Given the description of an element on the screen output the (x, y) to click on. 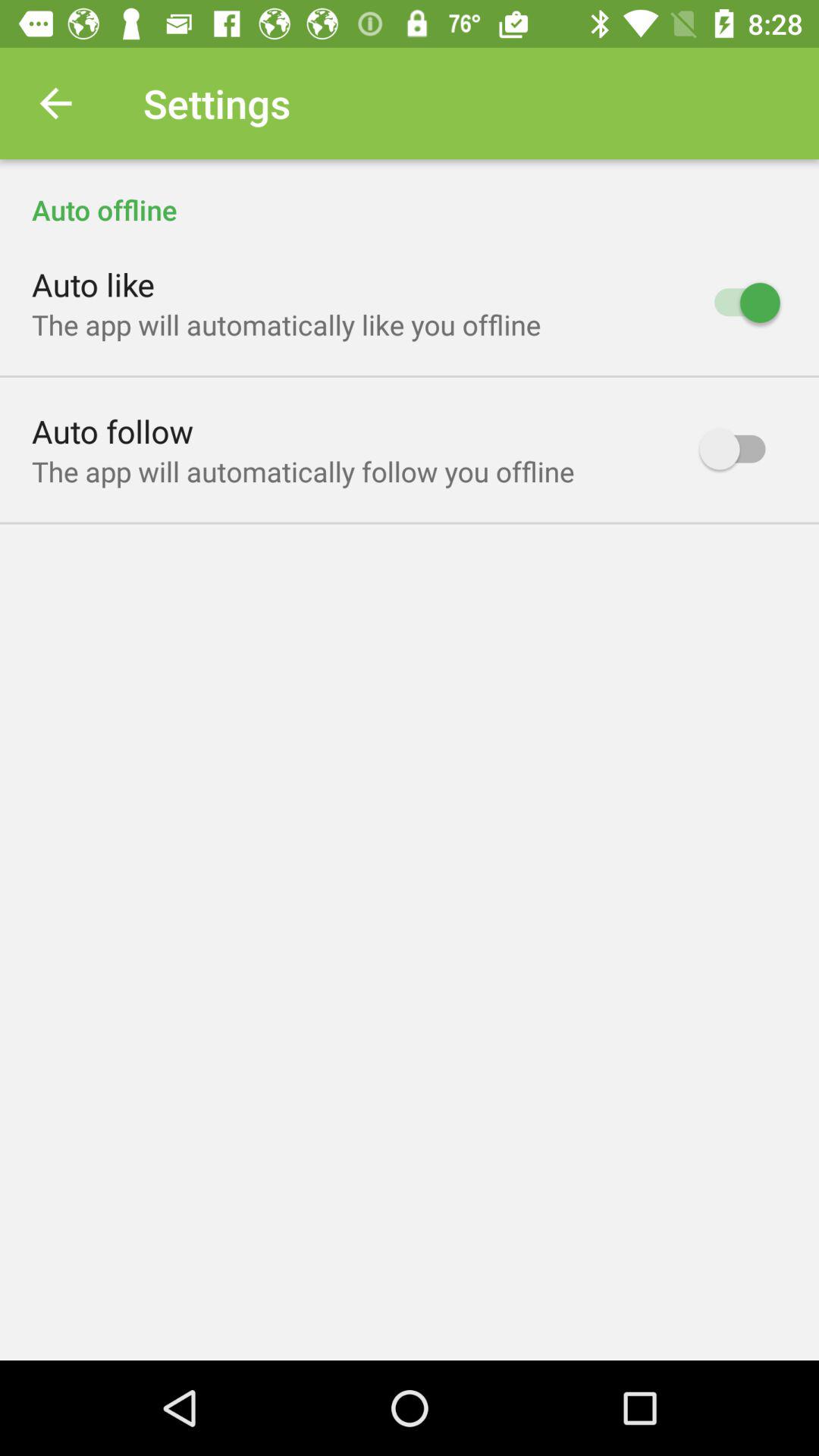
select icon above auto offline (55, 103)
